Given the description of an element on the screen output the (x, y) to click on. 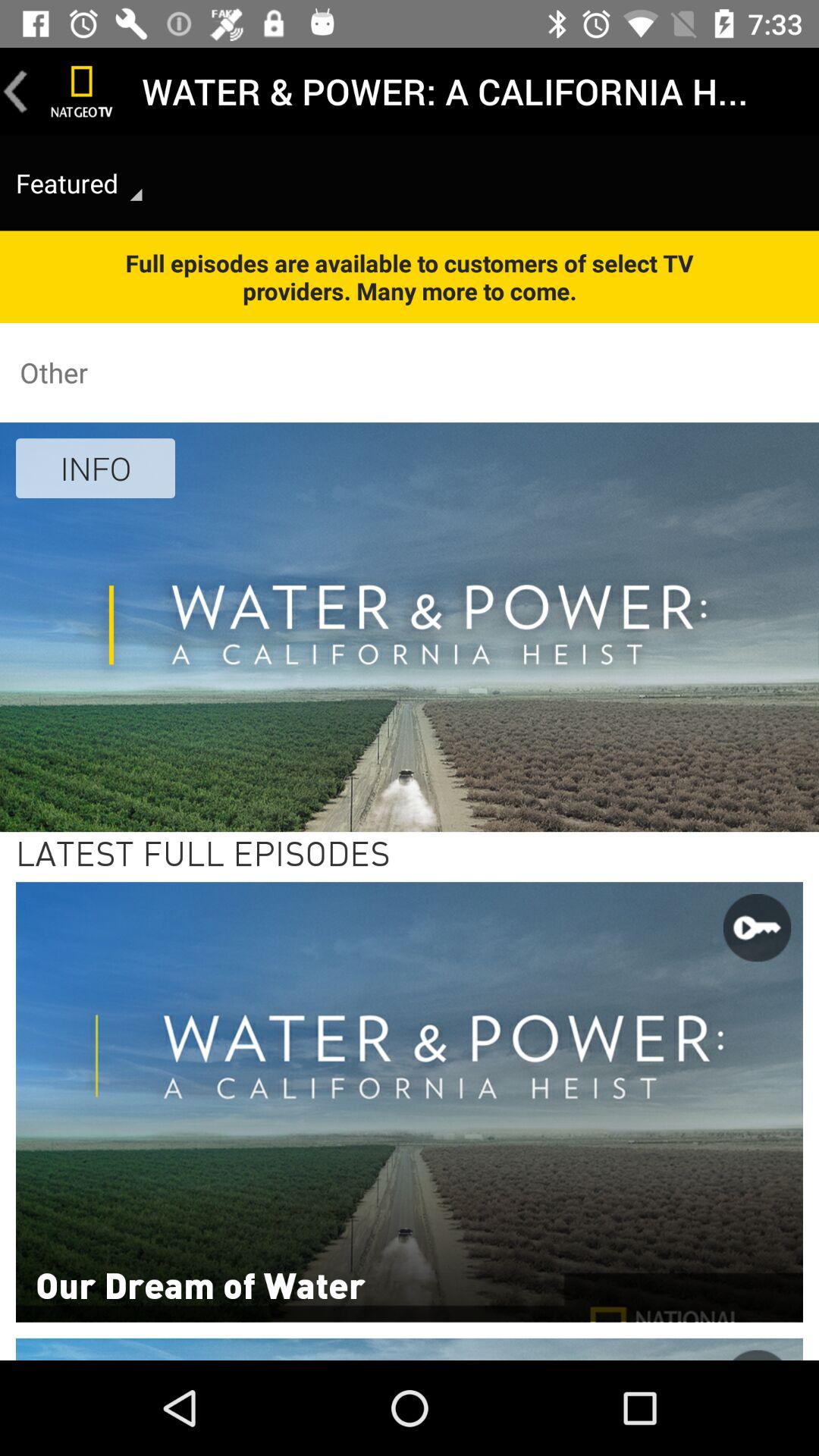
swipe until our dream of (200, 1284)
